Given the description of an element on the screen output the (x, y) to click on. 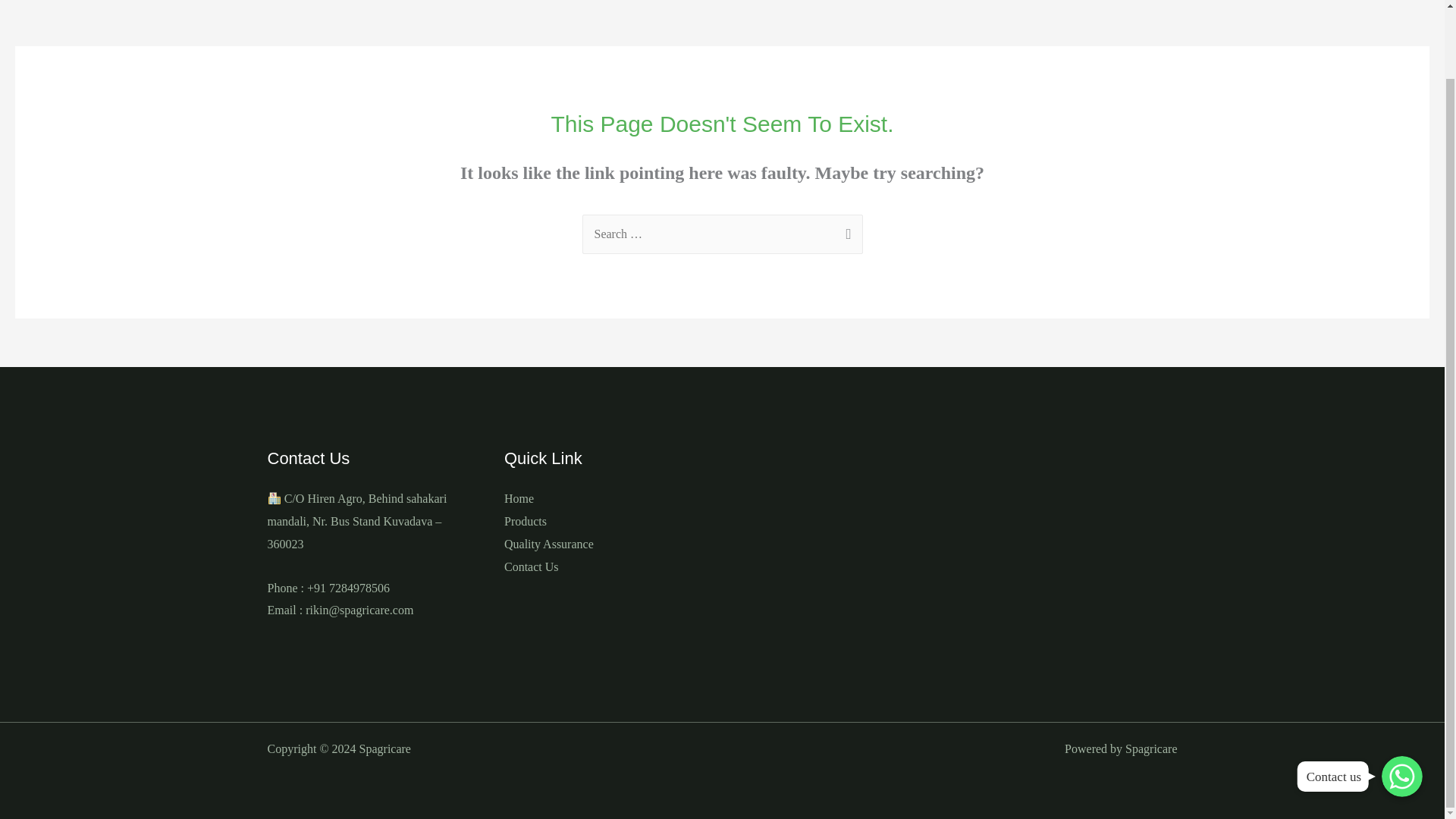
WhatsApp (1401, 700)
Contact Us (531, 566)
Quality Assurance (548, 543)
Home (518, 498)
Products (525, 521)
